Given the description of an element on the screen output the (x, y) to click on. 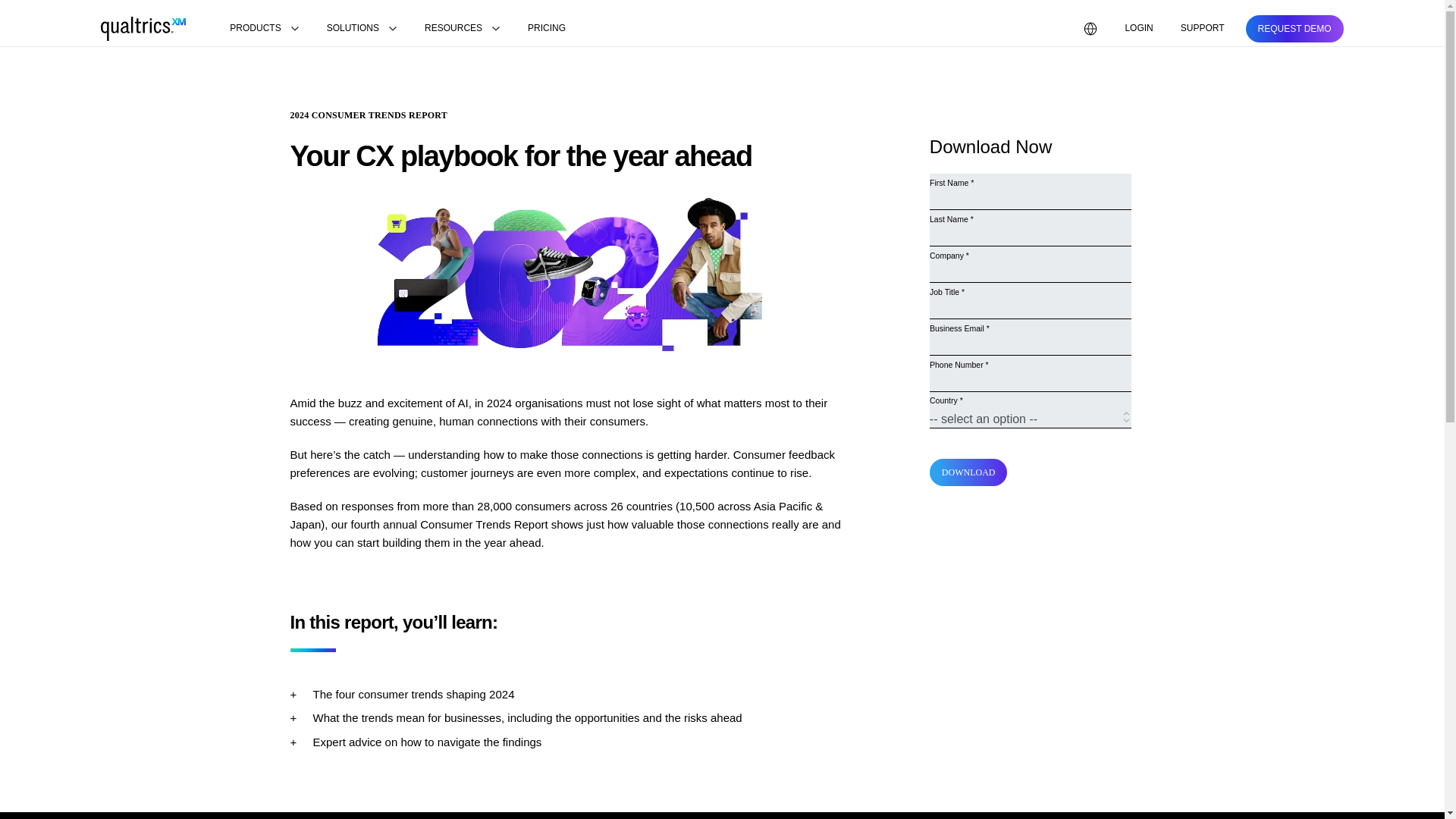
PRICING (546, 28)
SOLUTIONS (361, 28)
RESOURCES (462, 28)
PRODUCTS (264, 28)
Skip to main content (51, 9)
